Given the description of an element on the screen output the (x, y) to click on. 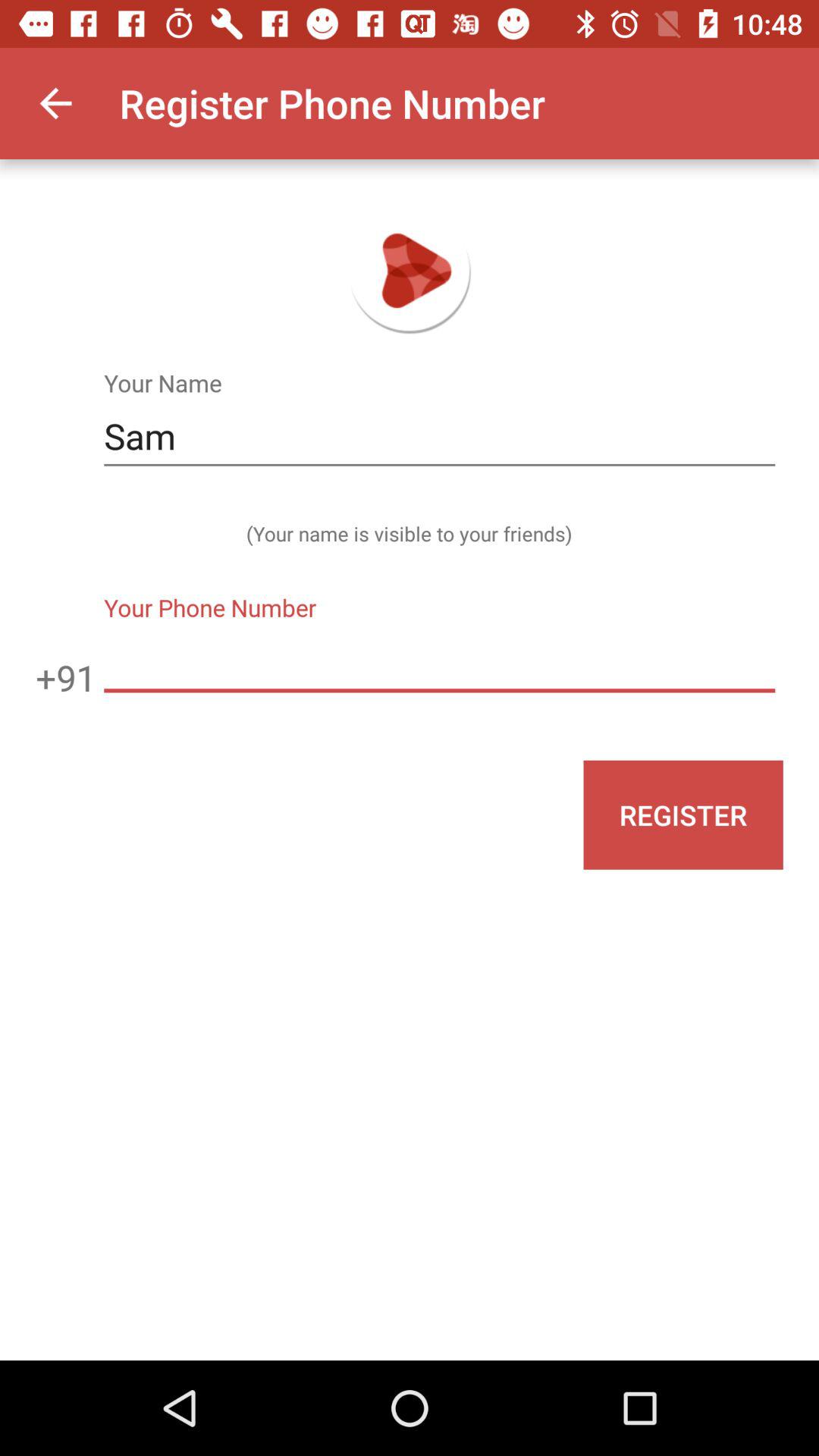
launch item at the top left corner (55, 103)
